Given the description of an element on the screen output the (x, y) to click on. 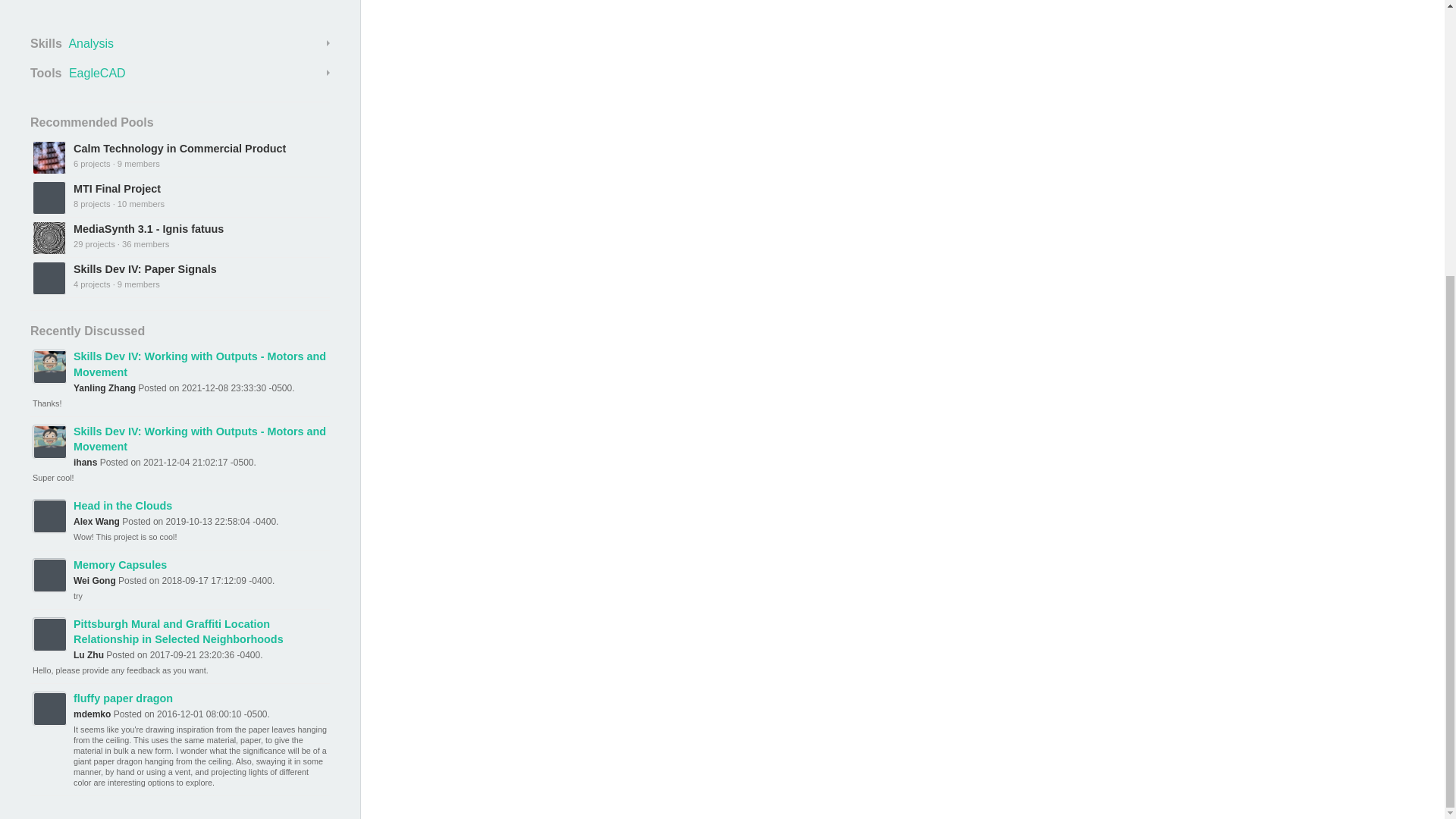
Skills Analysis (180, 44)
